Given the description of an element on the screen output the (x, y) to click on. 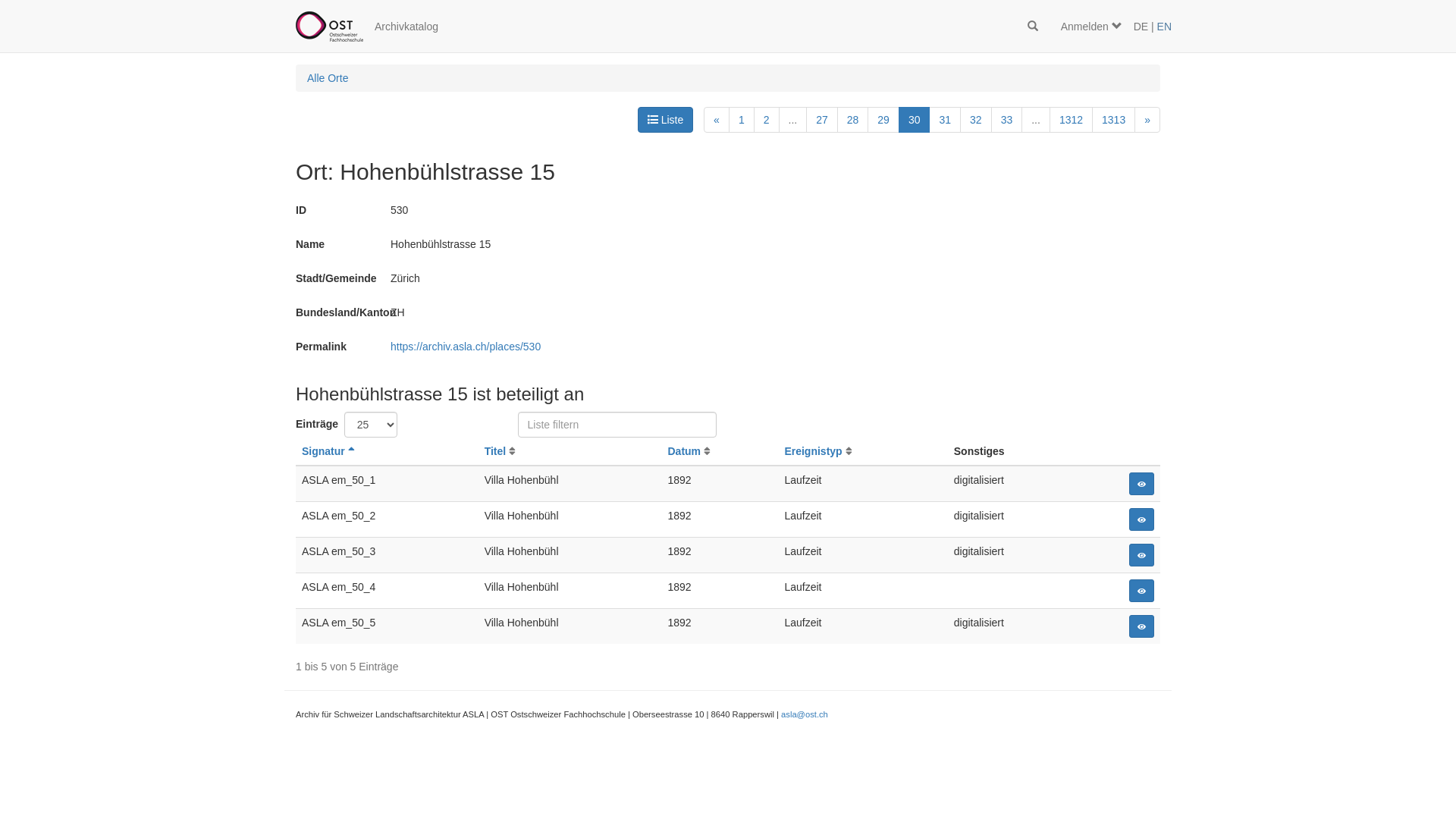
1 Element type: text (741, 119)
27 Element type: text (821, 119)
29 Element type: text (883, 119)
Datum Element type: text (688, 451)
https://archiv.asla.ch/places/530 Element type: text (465, 346)
33 Element type: text (1006, 119)
Liste Element type: text (665, 119)
31 Element type: text (944, 119)
Anmelden Element type: text (1091, 26)
Detail Element type: hover (1141, 483)
32 Element type: text (975, 119)
Archivkatalog Element type: text (406, 26)
Detail Element type: hover (1141, 519)
1313 Element type: text (1113, 119)
Titel Element type: text (499, 451)
EN Element type: text (1164, 26)
28 Element type: text (853, 119)
asla@ost.ch Element type: text (804, 713)
Detail Element type: hover (1141, 626)
Alle Orte Element type: text (327, 78)
Signatur Element type: text (327, 451)
1312 Element type: text (1070, 119)
Detail Element type: hover (1141, 554)
Detail Element type: hover (1141, 590)
DE Element type: text (1140, 26)
Ereignistyp Element type: text (817, 451)
2 Element type: text (766, 119)
